Given the description of an element on the screen output the (x, y) to click on. 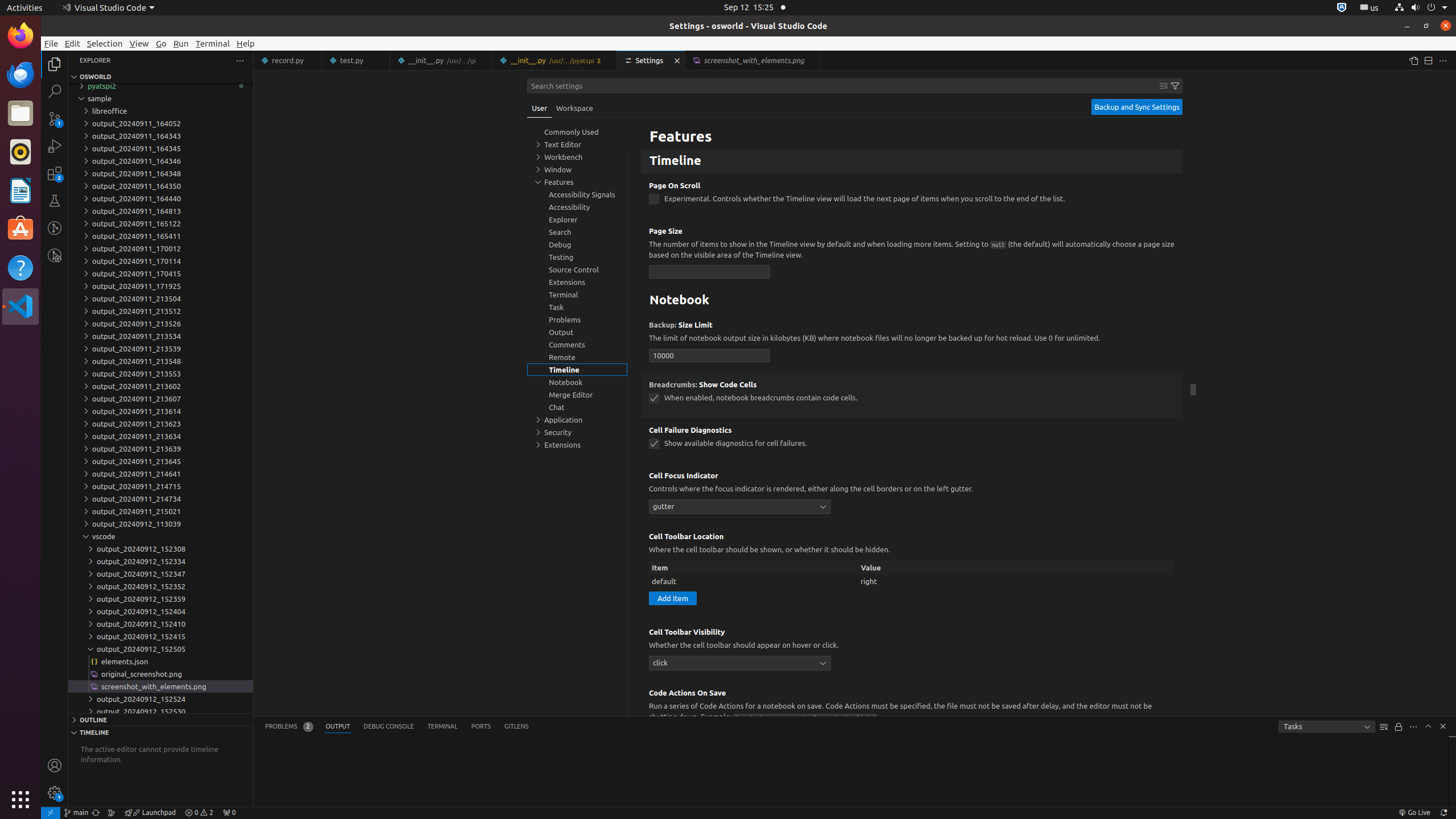
test.py Element type: page-tab (355, 60)
Maximize Panel Size Element type: check-box (1427, 726)
Security, group Element type: tree-item (577, 431)
gutter Element type: menu-item (739, 506)
Workbench, group Element type: tree-item (577, 156)
